Given the description of an element on the screen output the (x, y) to click on. 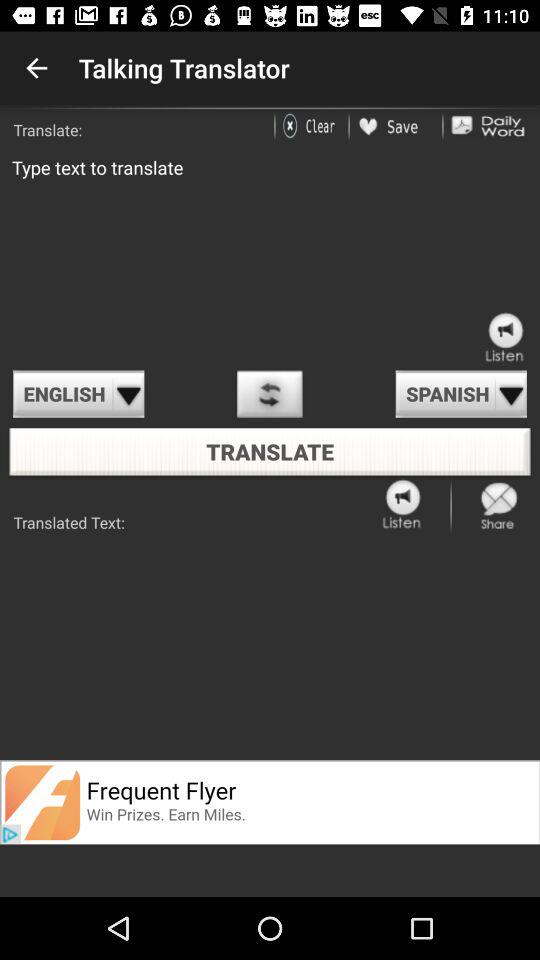
click reload (269, 393)
